Given the description of an element on the screen output the (x, y) to click on. 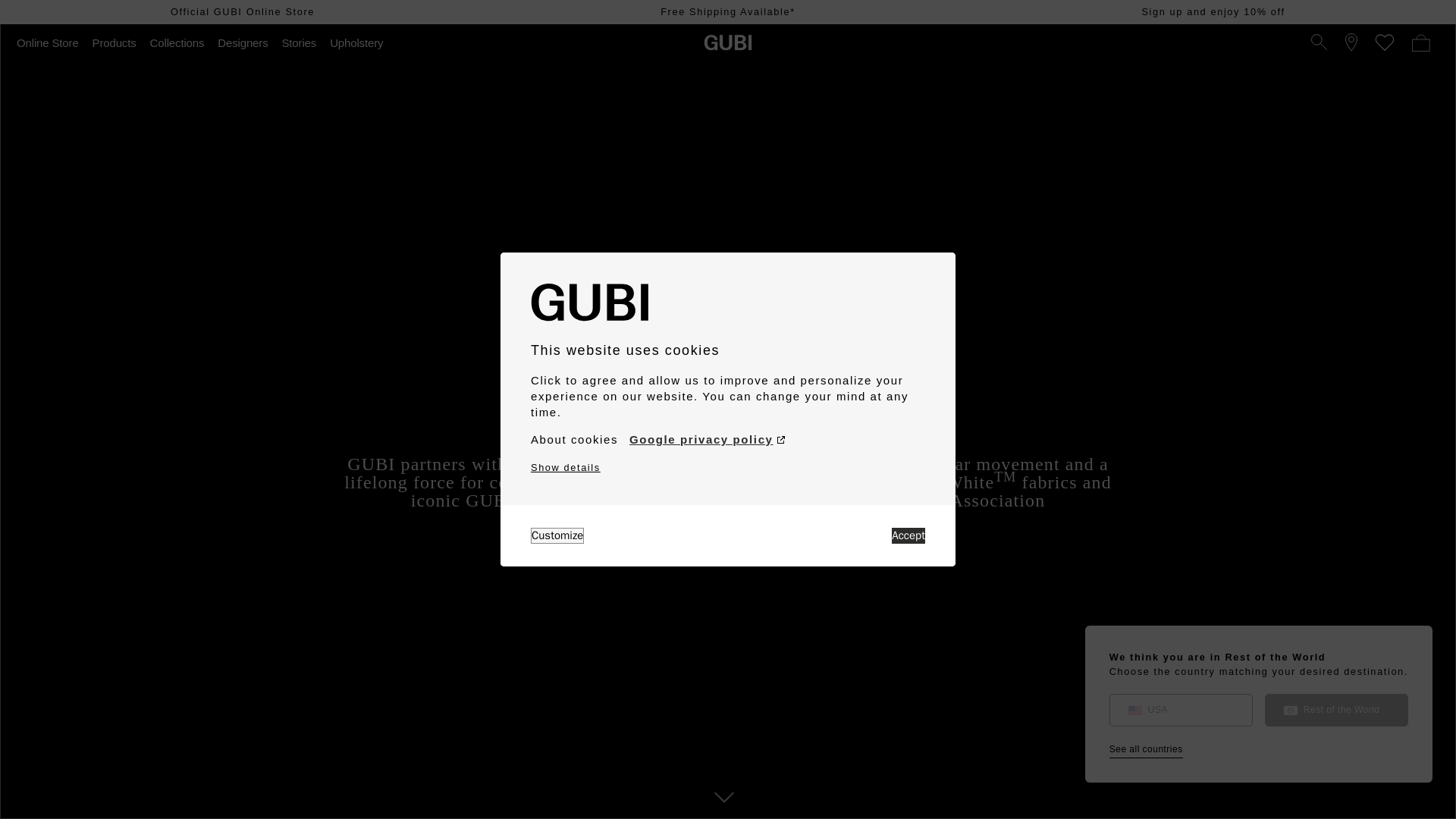
About cookies (574, 439)
Show details (565, 467)
Google privacy policy (707, 439)
